Given the description of an element on the screen output the (x, y) to click on. 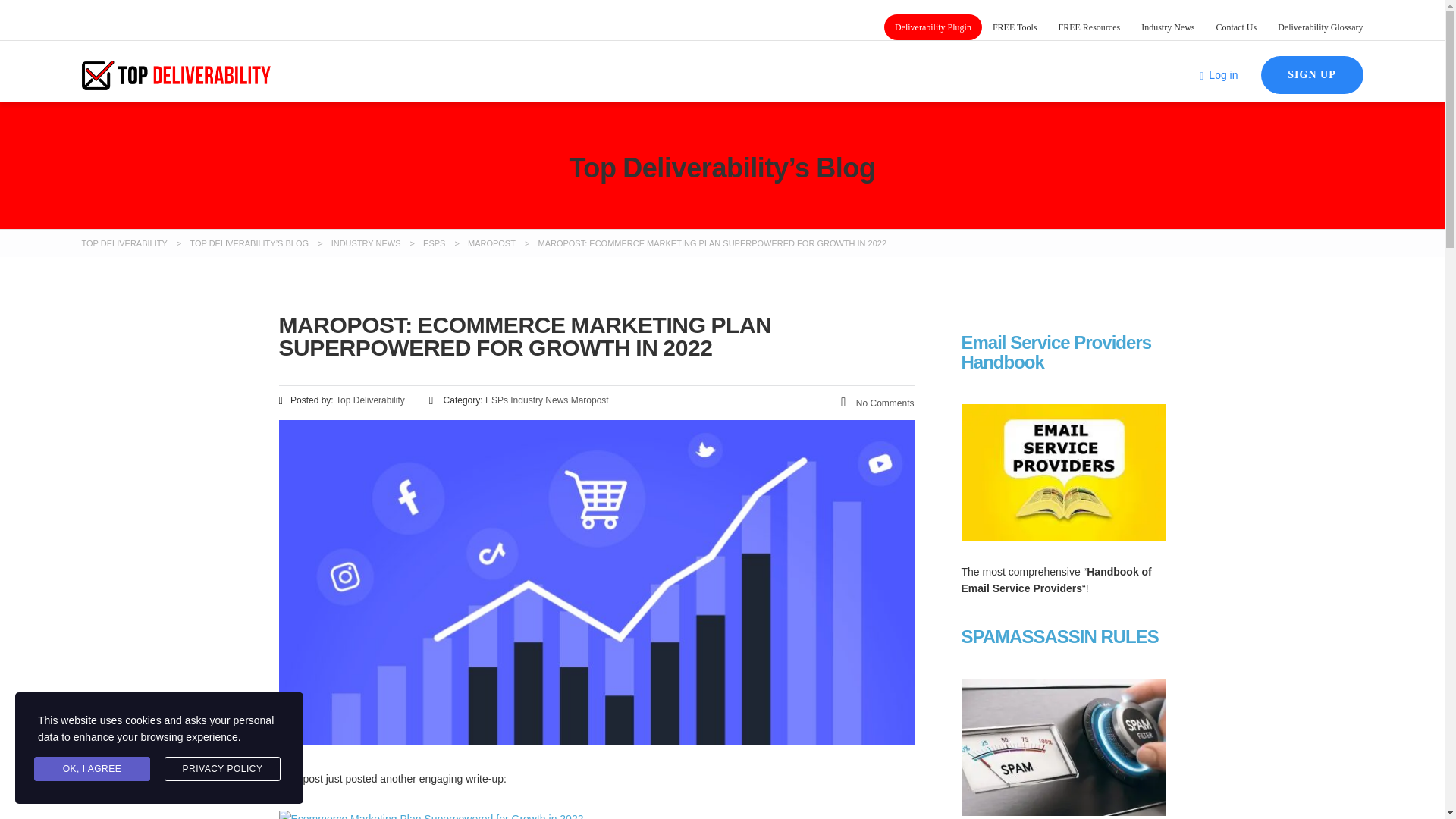
Go to the Industry News Category archives. (366, 243)
Deliverability Plugin (933, 27)
Deliverability Glossary (1320, 27)
Go to the Maropost Category archives. (491, 243)
FREE Resources (1089, 27)
Go to Top Deliverability. (124, 243)
Log in (1218, 74)
Go to the ESPs Category archives. (434, 243)
Industry News (1167, 27)
SIGN UP (1311, 75)
FREE Tools (1014, 27)
Contact Us (1236, 27)
